Given the description of an element on the screen output the (x, y) to click on. 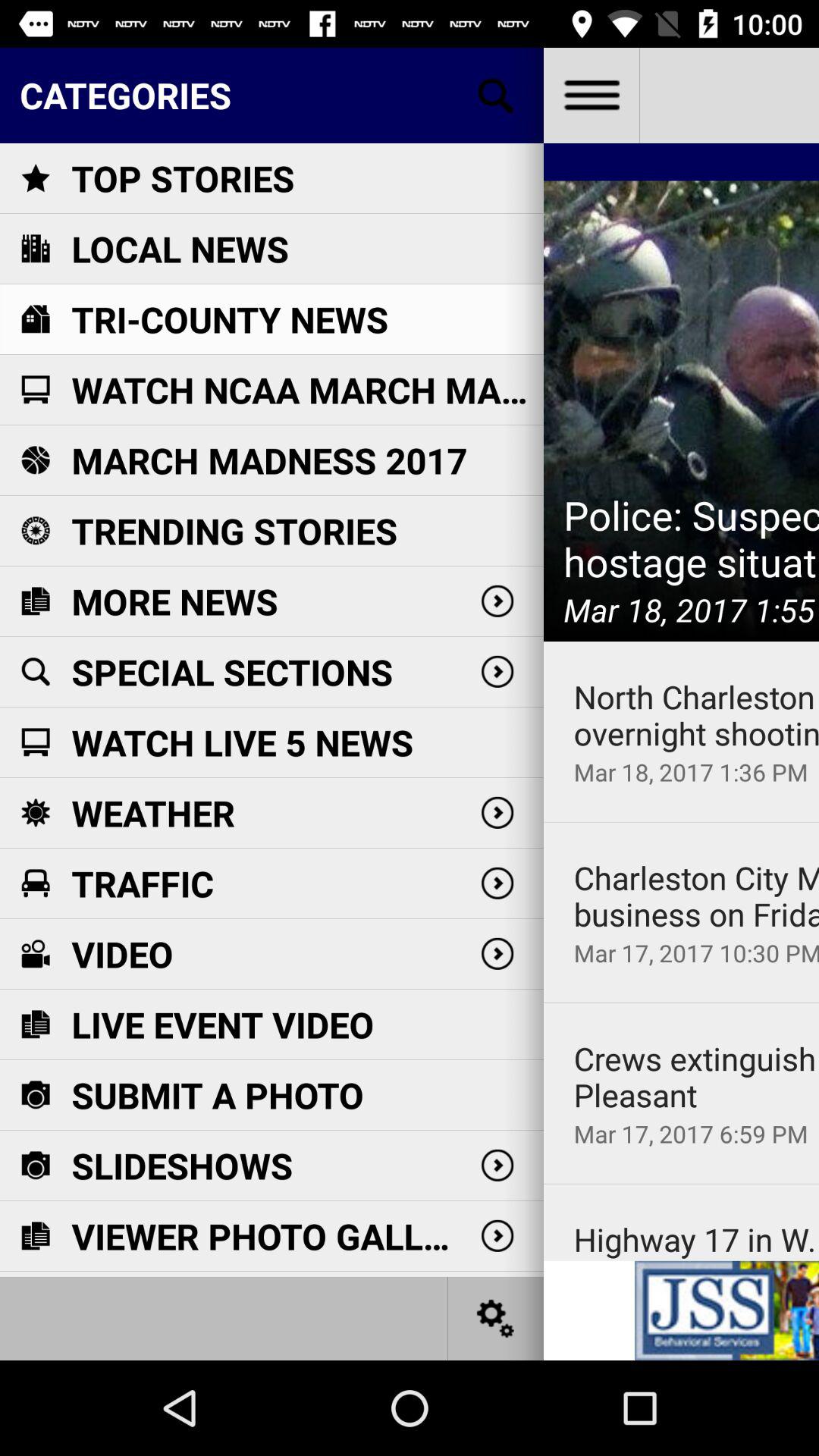
open north charleston police item (696, 715)
